Given the description of an element on the screen output the (x, y) to click on. 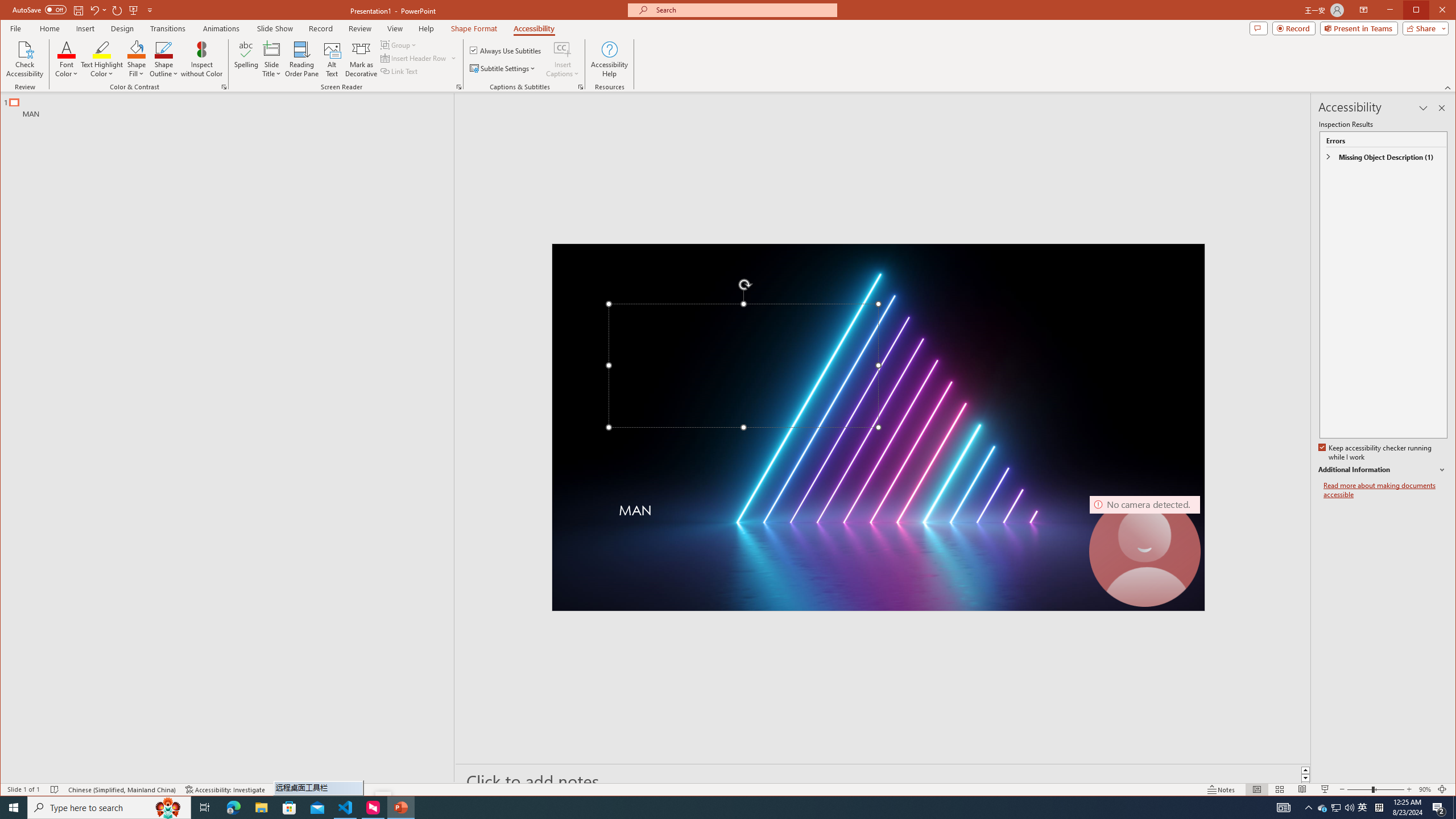
Color & Contrast (223, 86)
Link Text (399, 70)
Outline (231, 104)
